Given the description of an element on the screen output the (x, y) to click on. 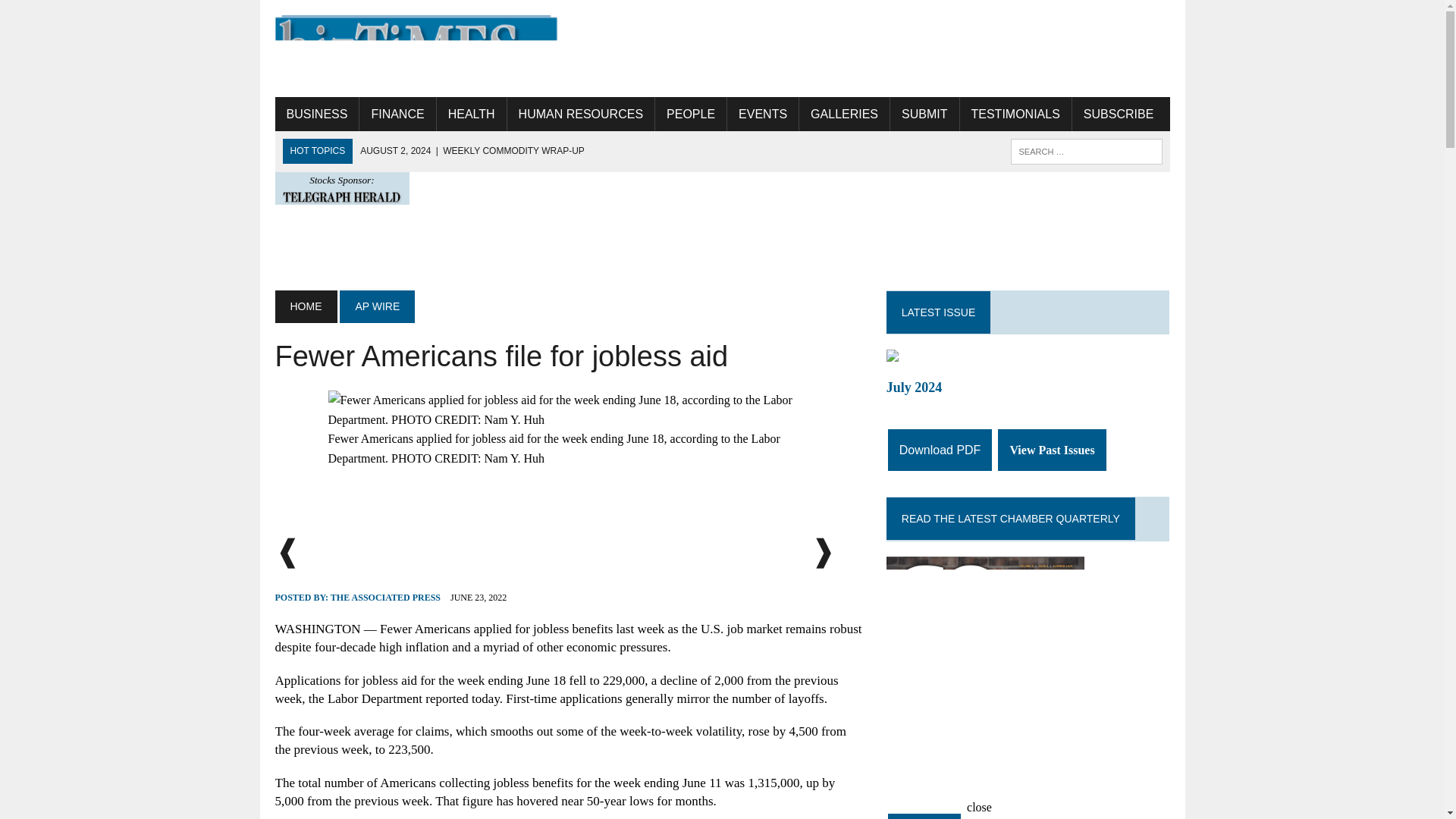
FINANCE (397, 114)
BizTimes.biz (416, 48)
View Past Issues (941, 816)
AP WIRE (376, 306)
HEALTH (471, 114)
HOME (305, 306)
SUBSCRIBE (1117, 114)
HUMAN RESOURCES (579, 114)
Download PDF (940, 450)
THE ASSOCIATED PRESS (385, 597)
Search (75, 14)
PEOPLE (690, 114)
Weekly commodity wrap-up (472, 150)
View Past Issues (1051, 450)
BUSINESS (316, 114)
